Given the description of an element on the screen output the (x, y) to click on. 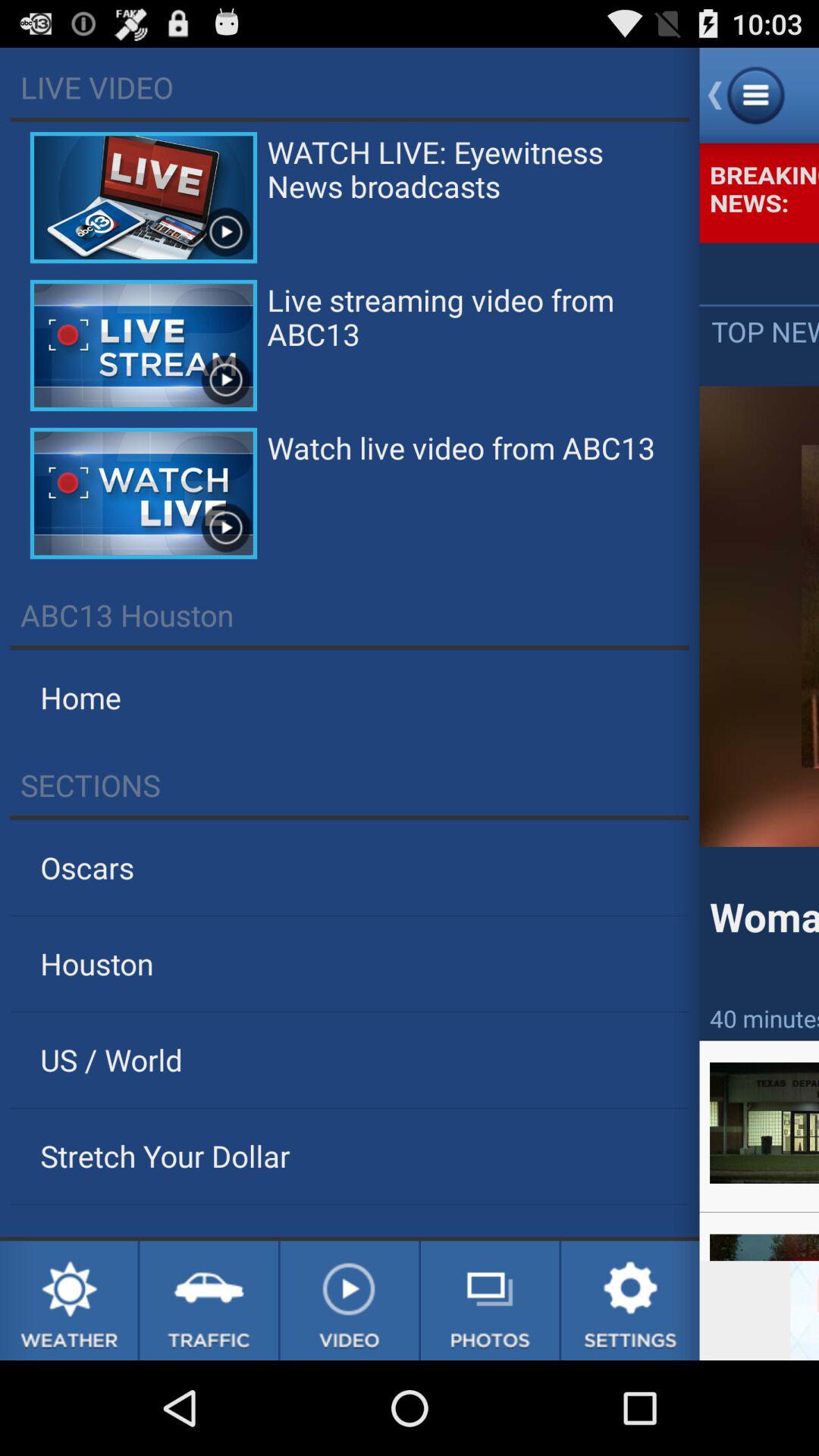
option right to photos option (630, 1300)
the first video of the page (143, 197)
select the more options button (759, 95)
select the option beside weather (209, 1300)
click the play icon from the first box (225, 231)
